Given the description of an element on the screen output the (x, y) to click on. 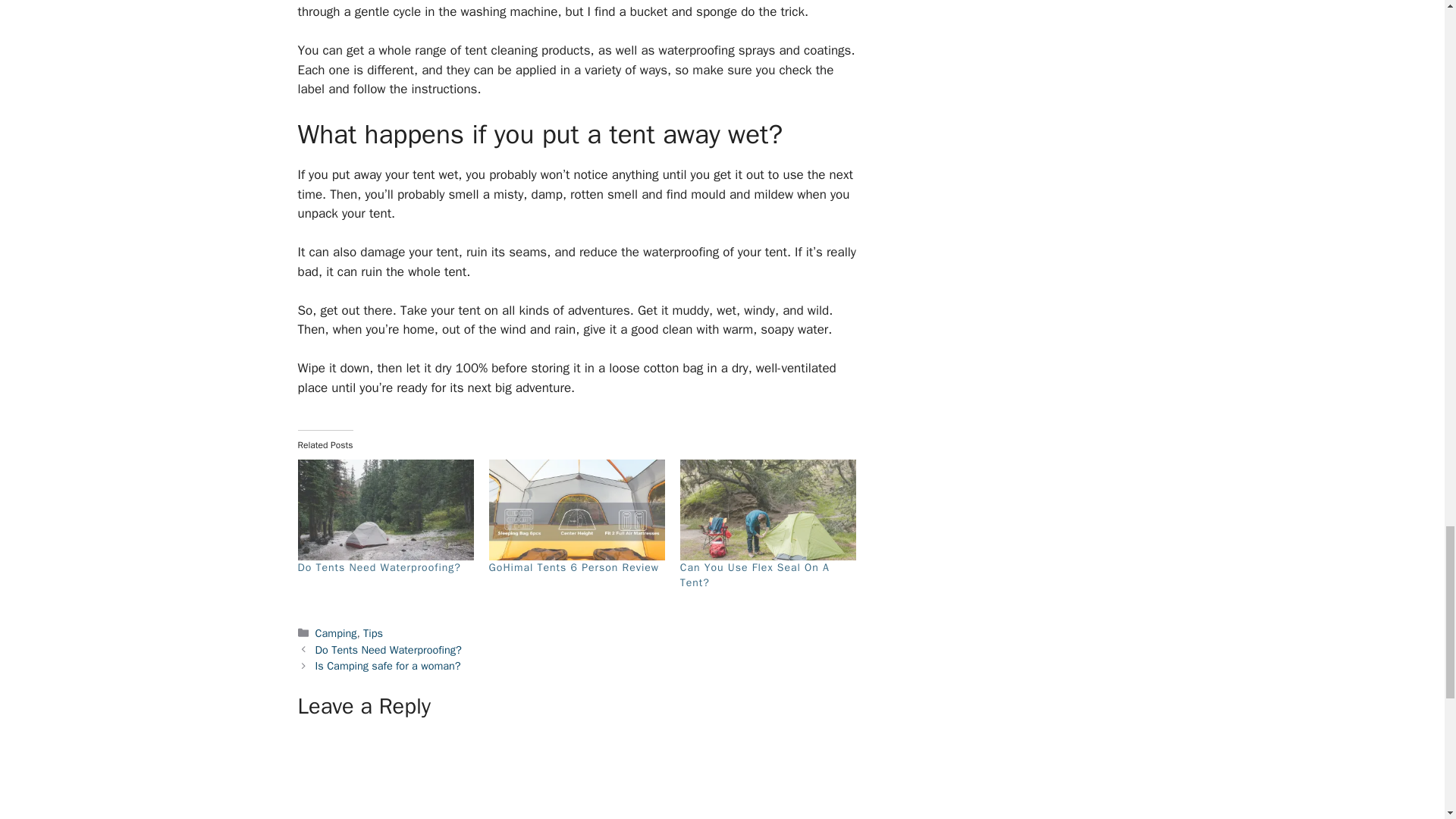
Camping (335, 632)
GoHimal Tents 6 Person Review (574, 567)
Can You Use Flex Seal On A Tent? (754, 574)
Do Tents Need Waterproofing? (378, 567)
Tips (372, 632)
